Given the description of an element on the screen output the (x, y) to click on. 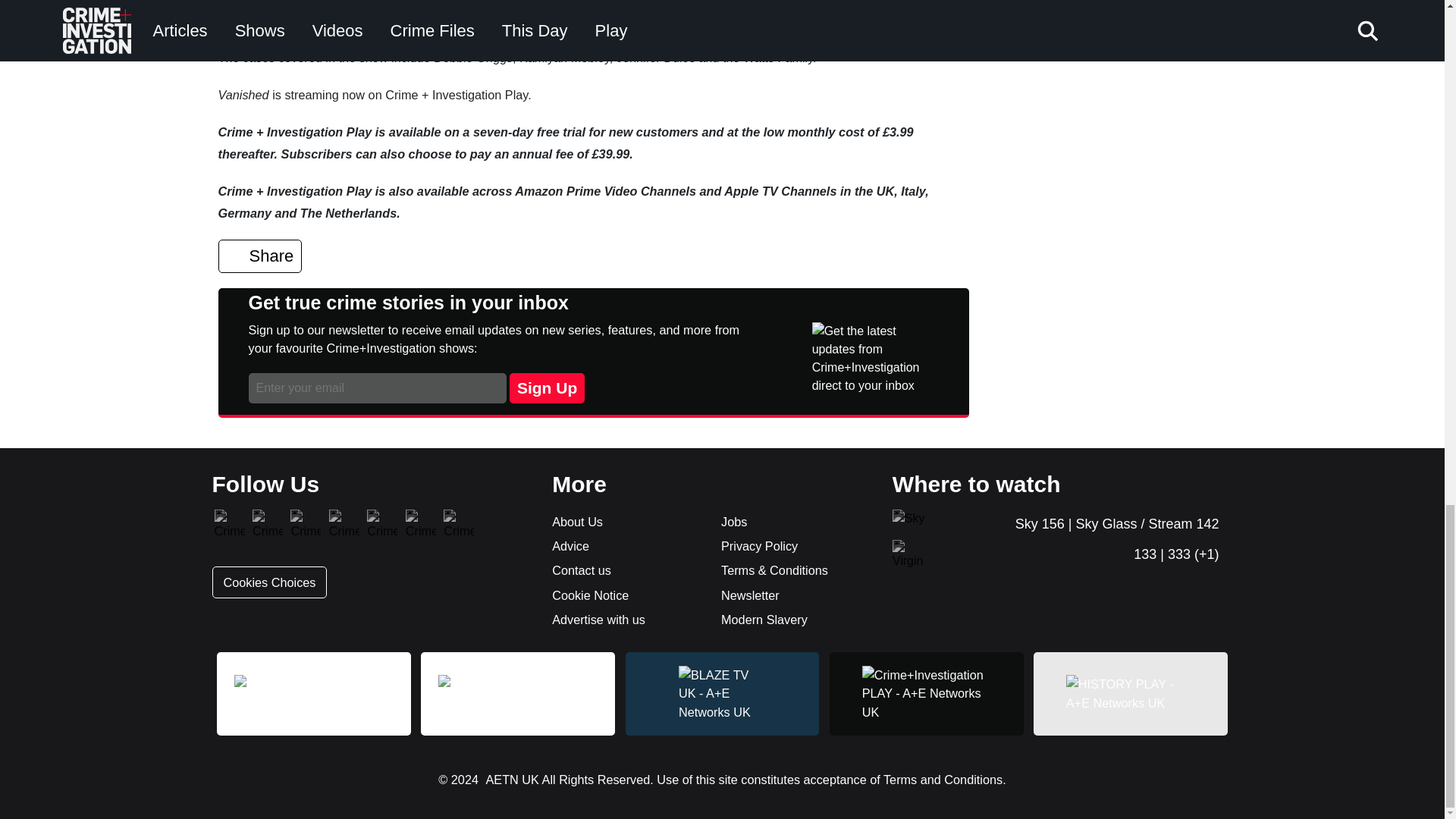
Contact us (626, 569)
Vanished (243, 2)
Sign Up (547, 388)
Advice (626, 545)
Cookies Choices (269, 582)
Sign Up (547, 388)
About Us (626, 521)
Share (260, 255)
